Given the description of an element on the screen output the (x, y) to click on. 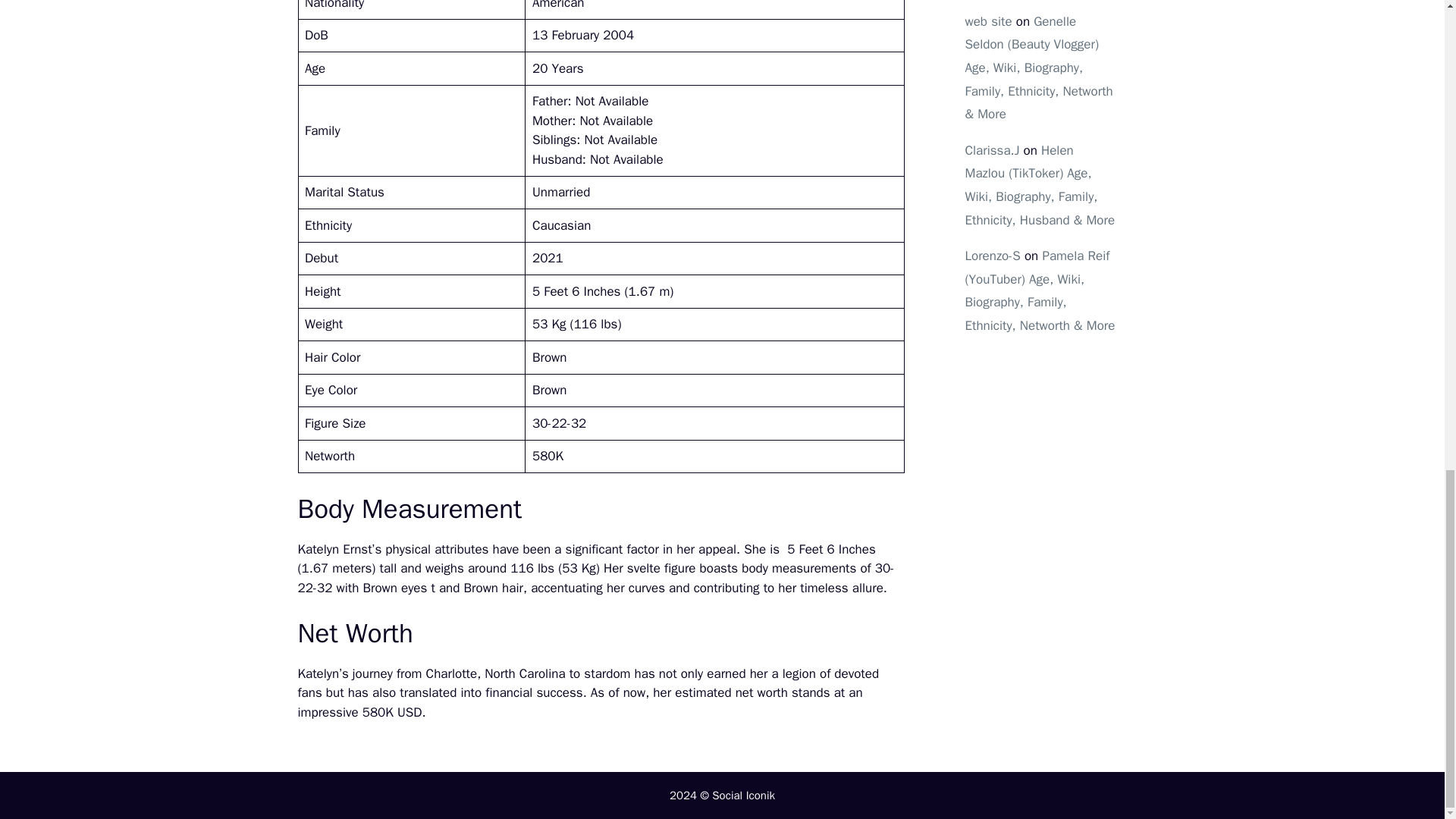
Lorenzo-S (991, 255)
Clarissa.J (991, 150)
Scroll back to top (1406, 424)
web site (987, 21)
